Given the description of an element on the screen output the (x, y) to click on. 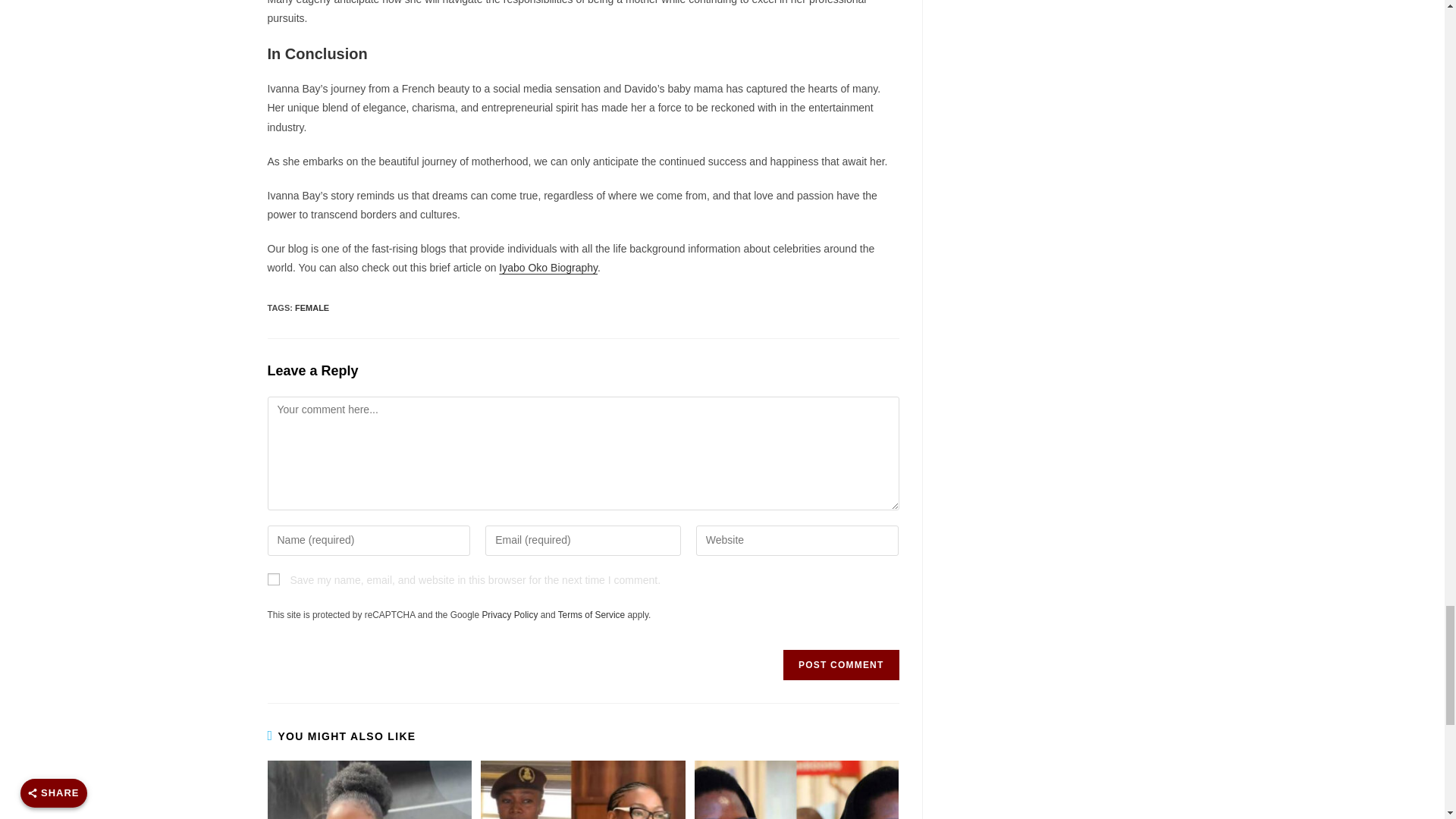
yes (272, 579)
Post Comment (840, 665)
